Given the description of an element on the screen output the (x, y) to click on. 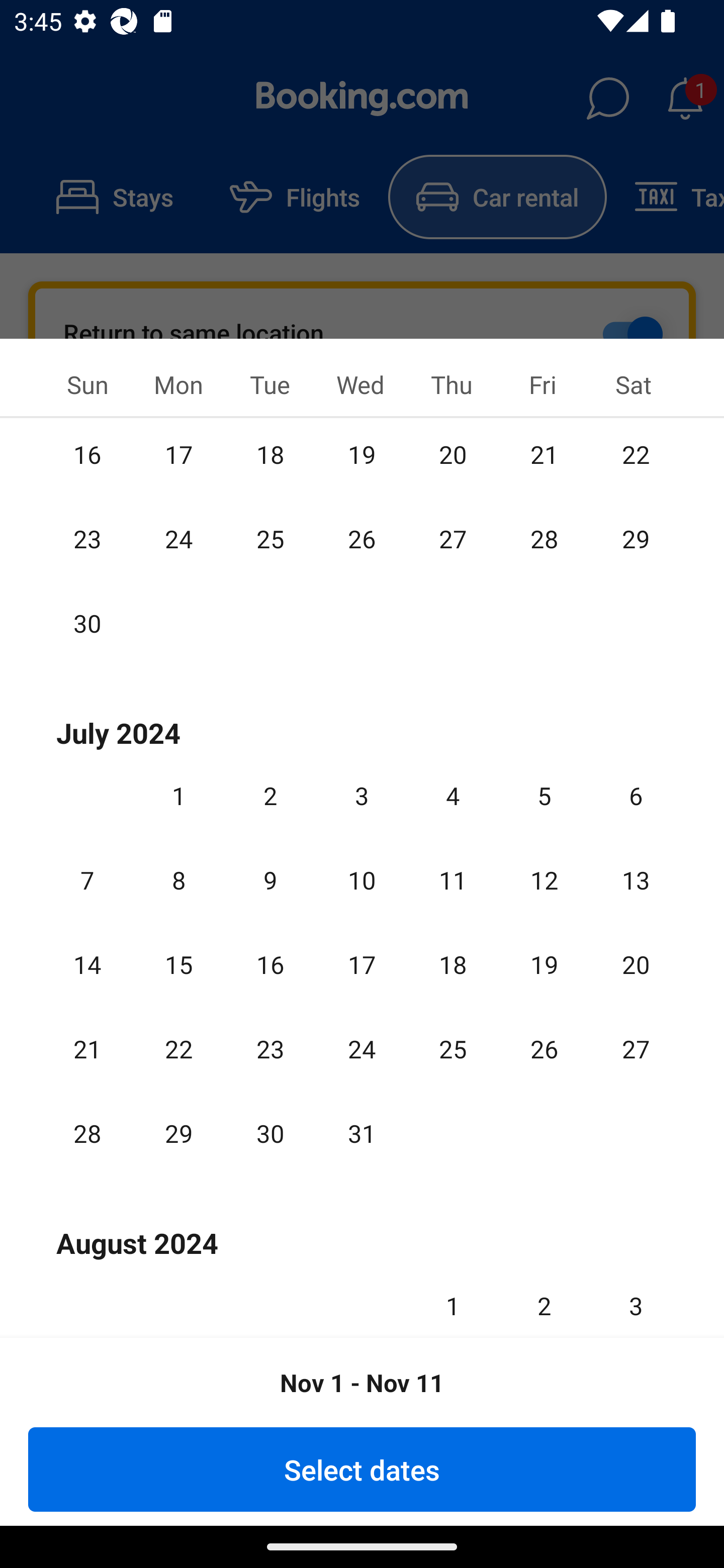
Select dates (361, 1468)
